Given the description of an element on the screen output the (x, y) to click on. 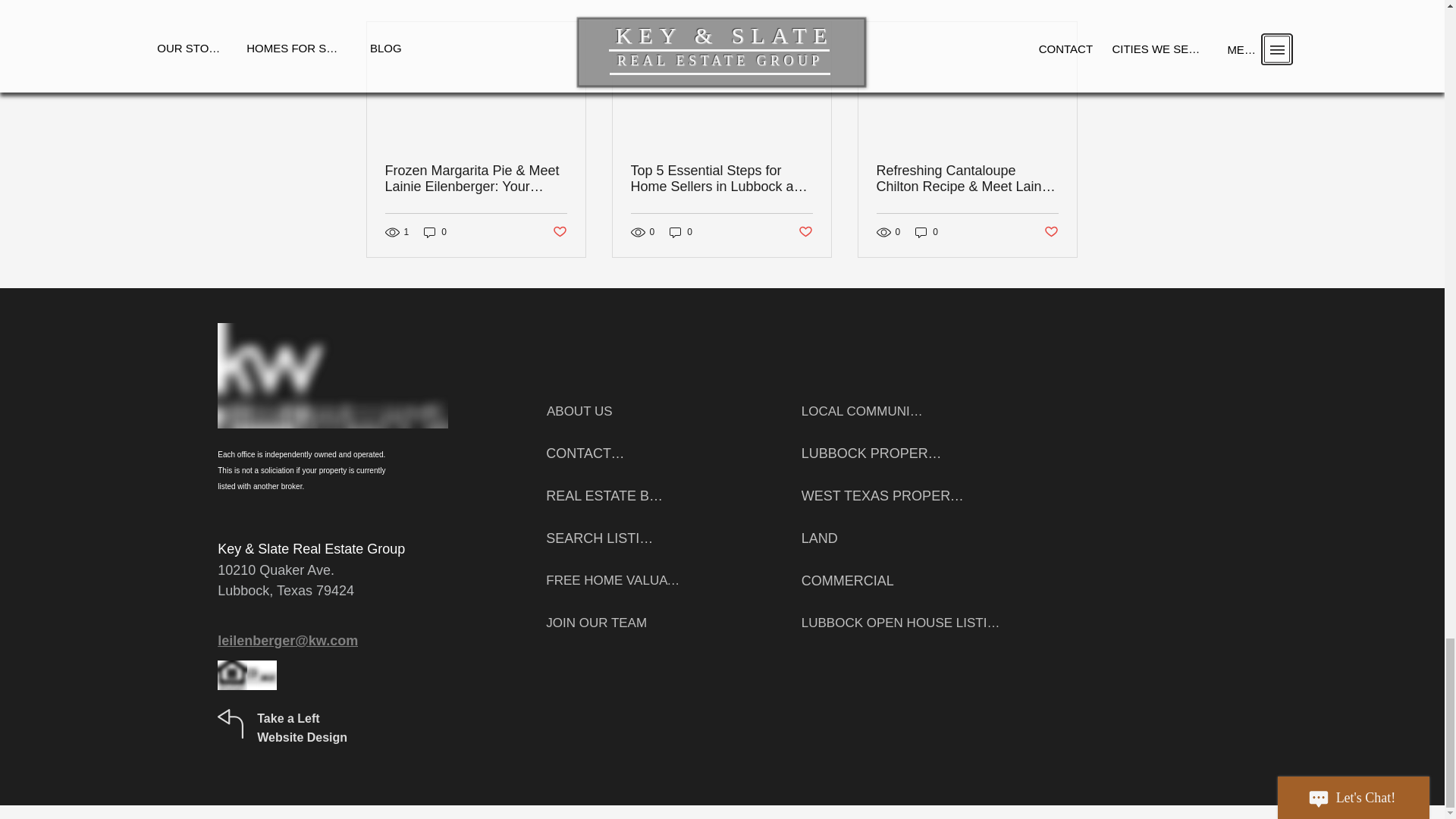
CONTACT US (586, 452)
ABOUT US (579, 411)
0 (926, 231)
0 (681, 231)
Post not marked as liked (558, 232)
Post not marked as liked (804, 232)
Post not marked as liked (1050, 232)
See All (1061, 2)
0 (435, 231)
